Given the description of an element on the screen output the (x, y) to click on. 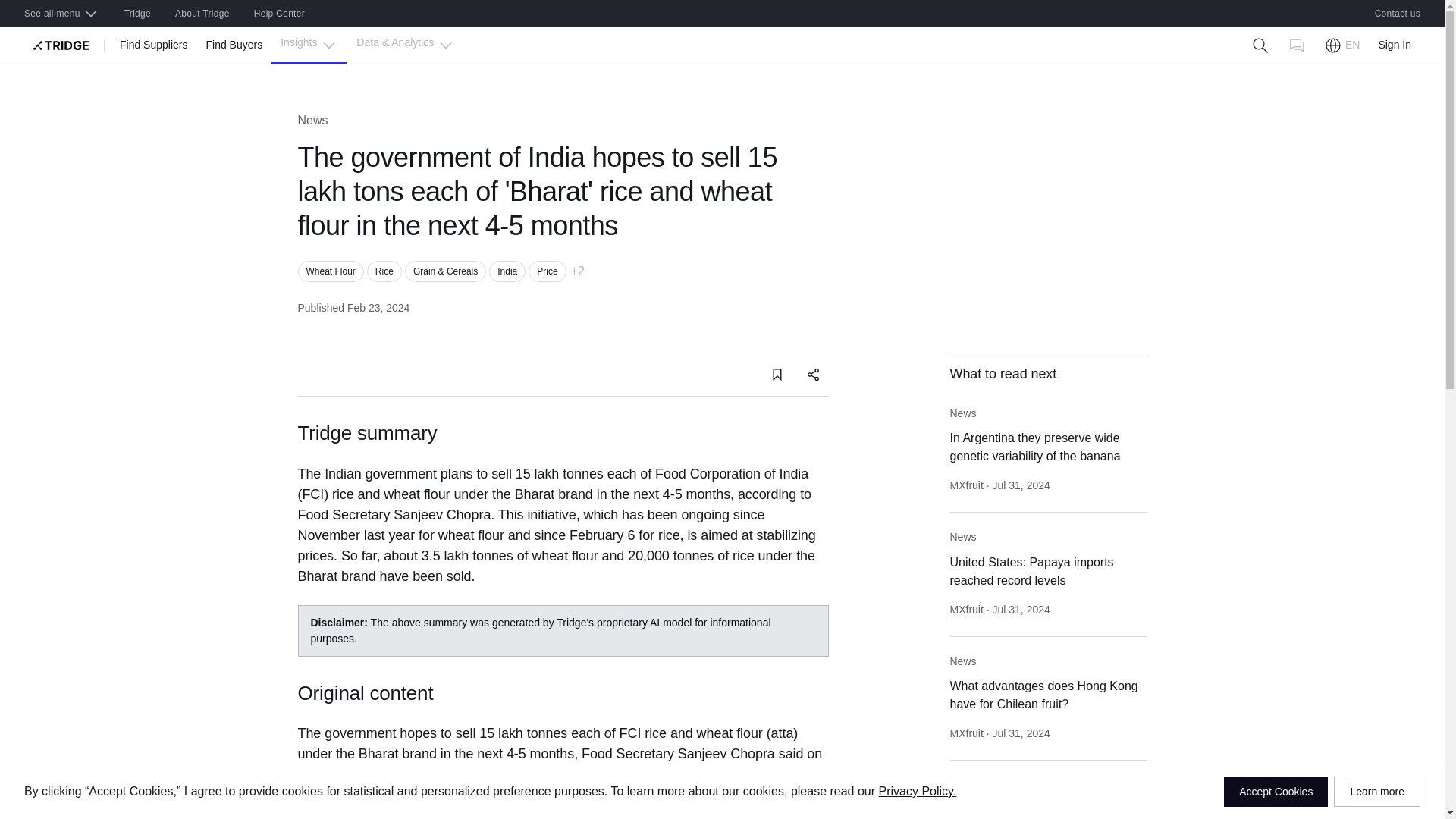
About Tridge (202, 13)
Tridge (137, 13)
Contact us (1397, 13)
Help Center (279, 13)
See all menu (61, 13)
